Given the description of an element on the screen output the (x, y) to click on. 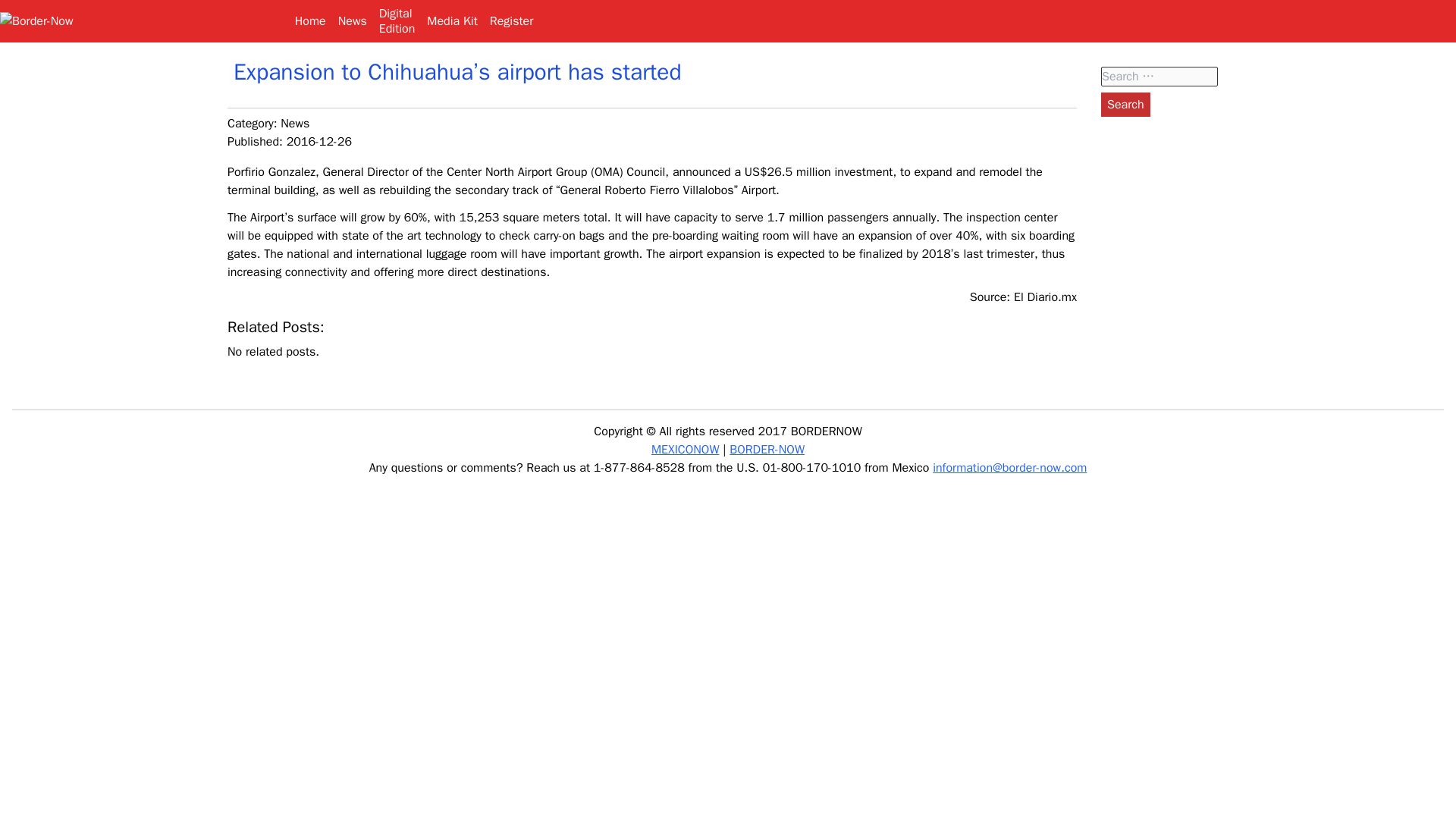
Register (511, 21)
Search (1125, 104)
MEXICONOW (684, 449)
Media Kit (451, 21)
News (294, 123)
Search (1125, 104)
Search (397, 21)
BORDER-NOW (1125, 104)
Home (767, 449)
